Given the description of an element on the screen output the (x, y) to click on. 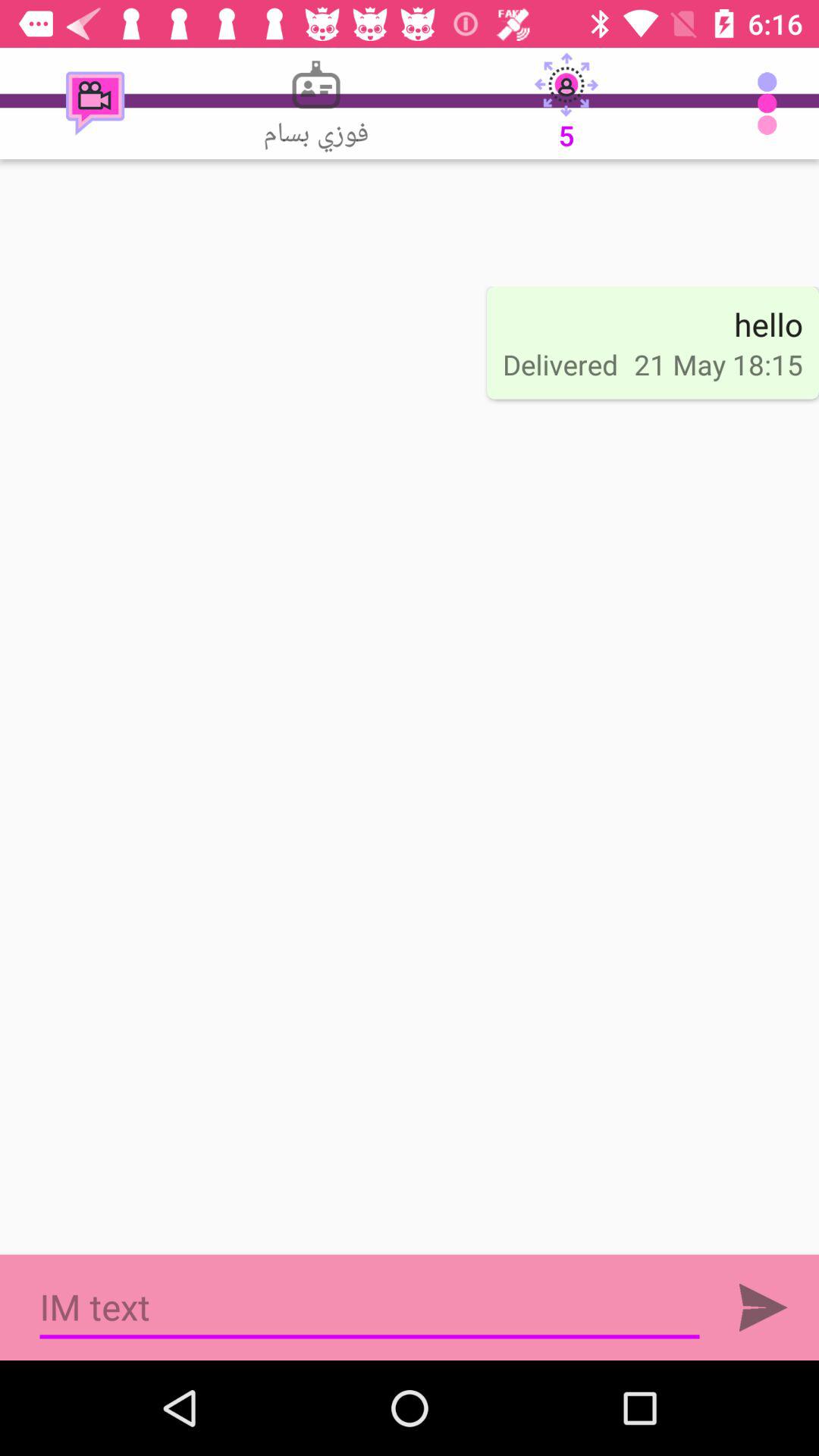
text here (369, 1307)
